Given the description of an element on the screen output the (x, y) to click on. 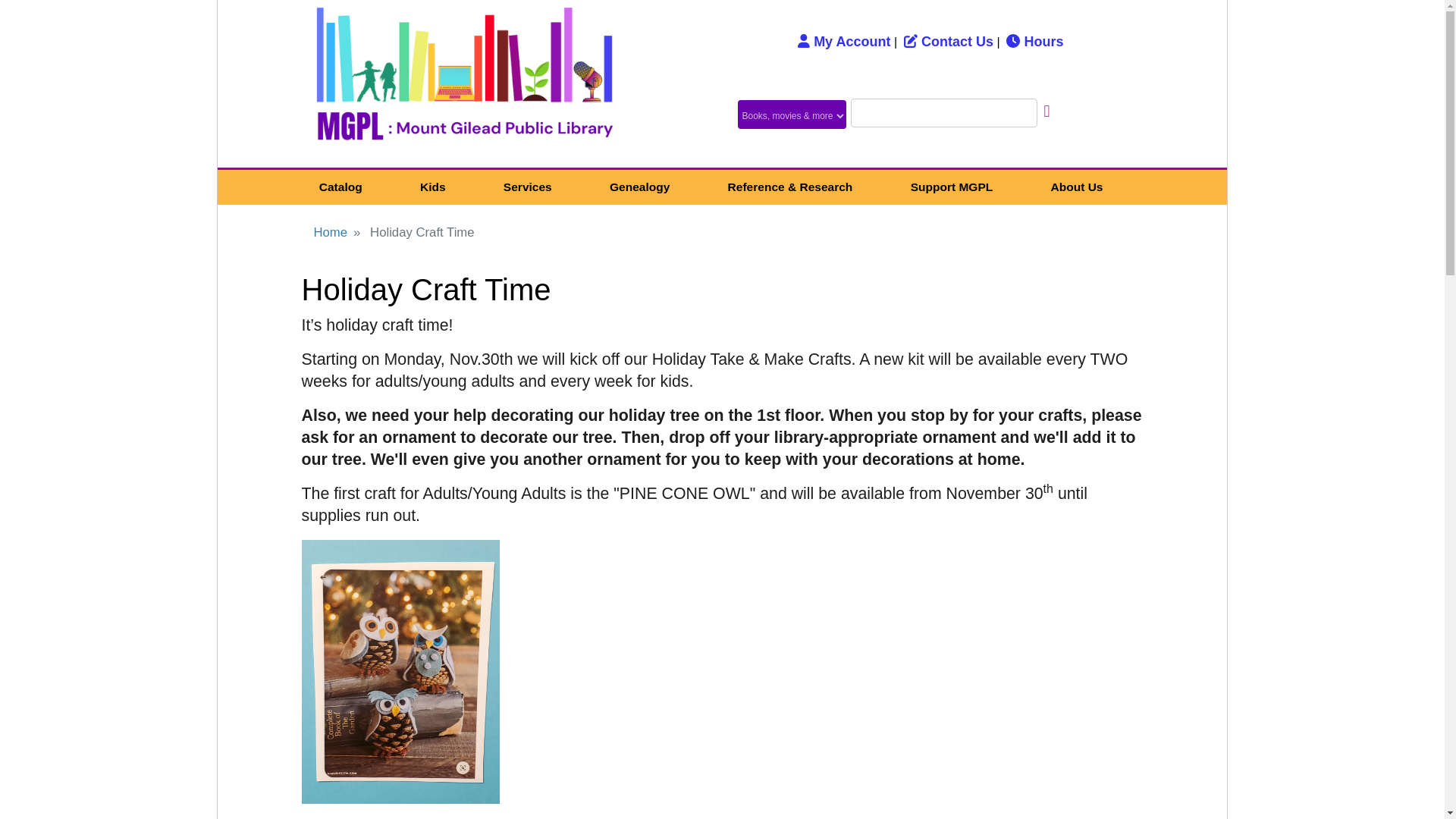
Skip to main content (721, 1)
Kids (433, 187)
Programs, references and resources for kids (433, 187)
About Us (1075, 187)
Genealogy (639, 187)
 My Account (843, 41)
Services (527, 187)
Services at the Mount Gilead Public Library (527, 187)
Support MGPL (951, 187)
Catalog (340, 187)
Genealogy (639, 187)
 Contact Us (948, 41)
Home (464, 83)
 Hours (1034, 41)
